Given the description of an element on the screen output the (x, y) to click on. 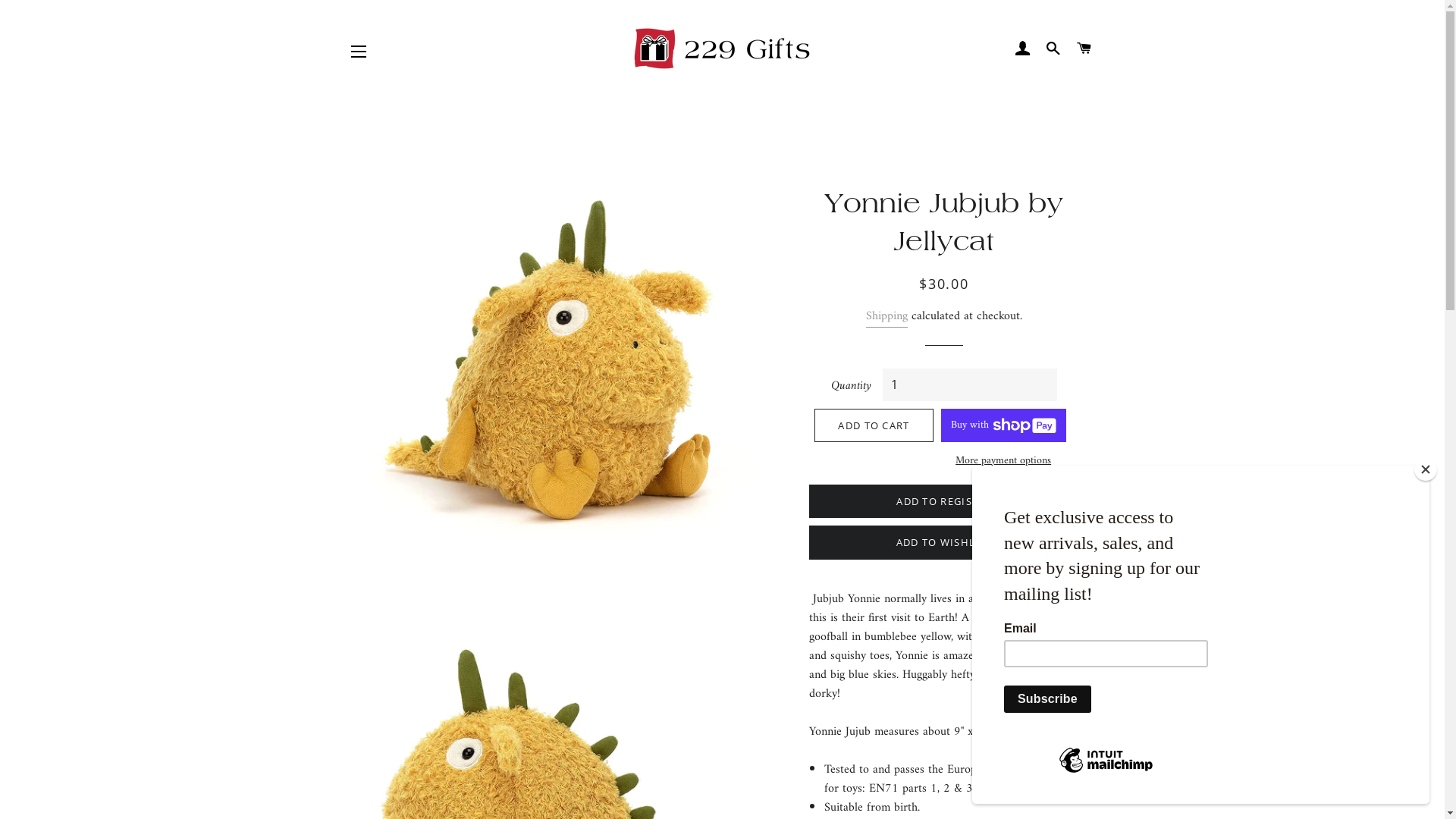
ADD TO CART Element type: text (873, 425)
LOG IN Element type: text (1022, 48)
Shipping Element type: text (886, 316)
SITE NAVIGATION Element type: text (358, 51)
CART Element type: text (1083, 48)
SEARCH Element type: text (1053, 48)
More payment options Element type: text (1003, 460)
